Given the description of an element on the screen output the (x, y) to click on. 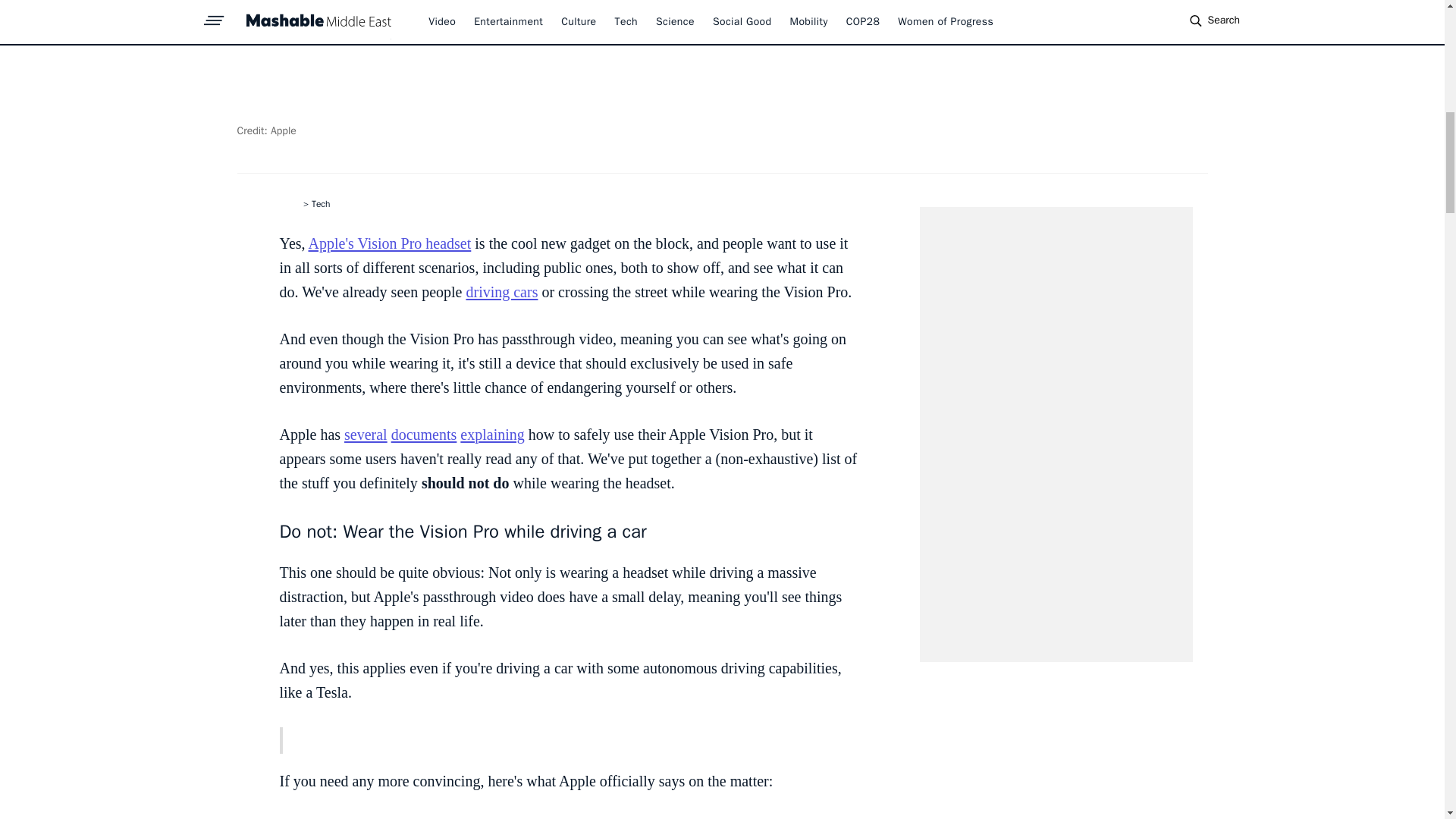
Apple's Vision Pro headset (388, 243)
documents (424, 434)
driving cars (501, 291)
explaining (492, 434)
several (365, 434)
